Given the description of an element on the screen output the (x, y) to click on. 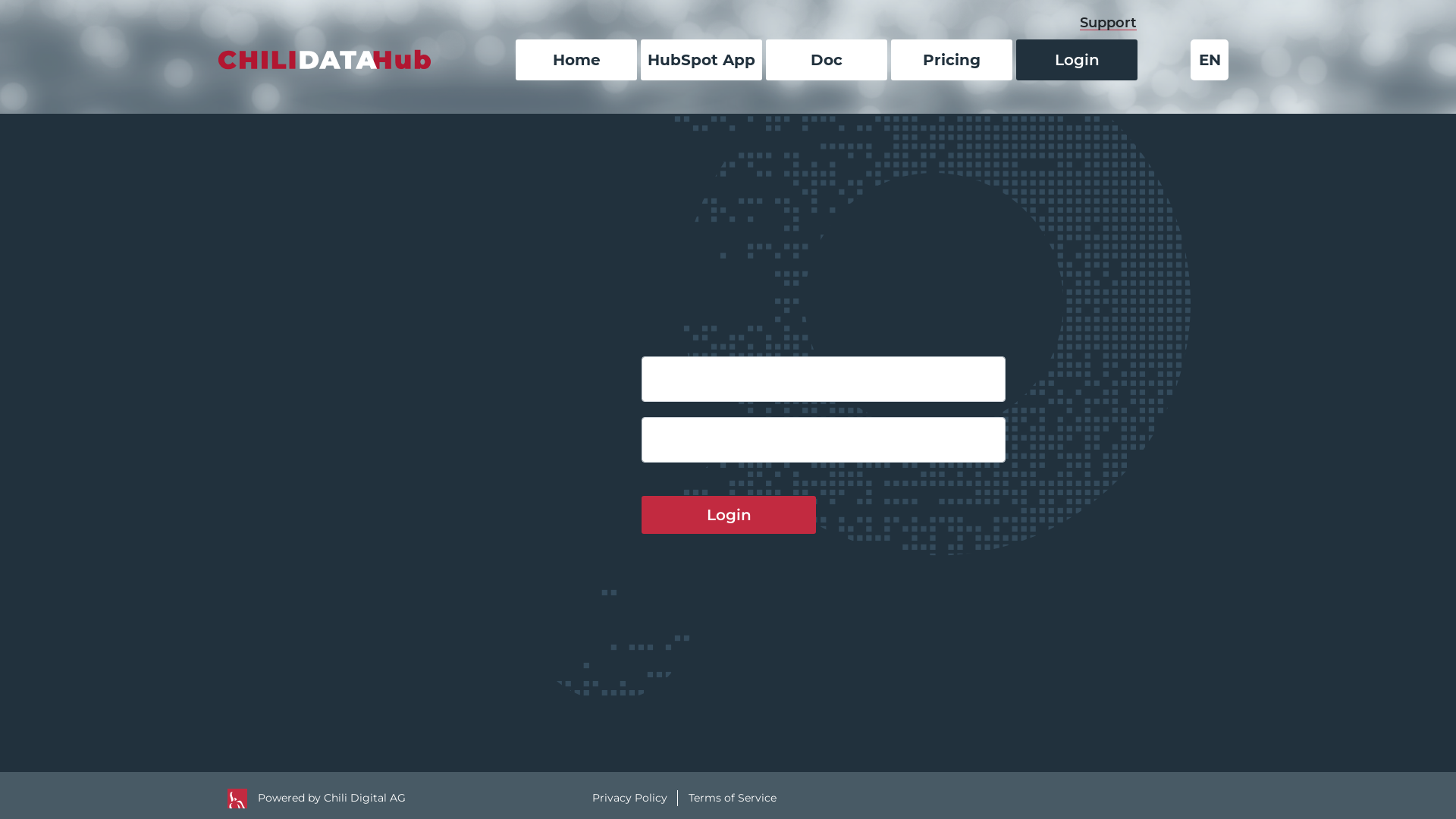
EN Element type: text (1209, 59)
Pricing Element type: text (951, 59)
Terms of Service Element type: text (732, 797)
Powered by Chili Digital AG Element type: text (331, 797)
HubSpot App Element type: text (701, 59)
Login Element type: text (1076, 59)
Privacy Policy Element type: text (629, 797)
Login Element type: text (728, 514)
Support Element type: text (1107, 22)
Doc Element type: text (826, 59)
Home Element type: text (576, 59)
